Given the description of an element on the screen output the (x, y) to click on. 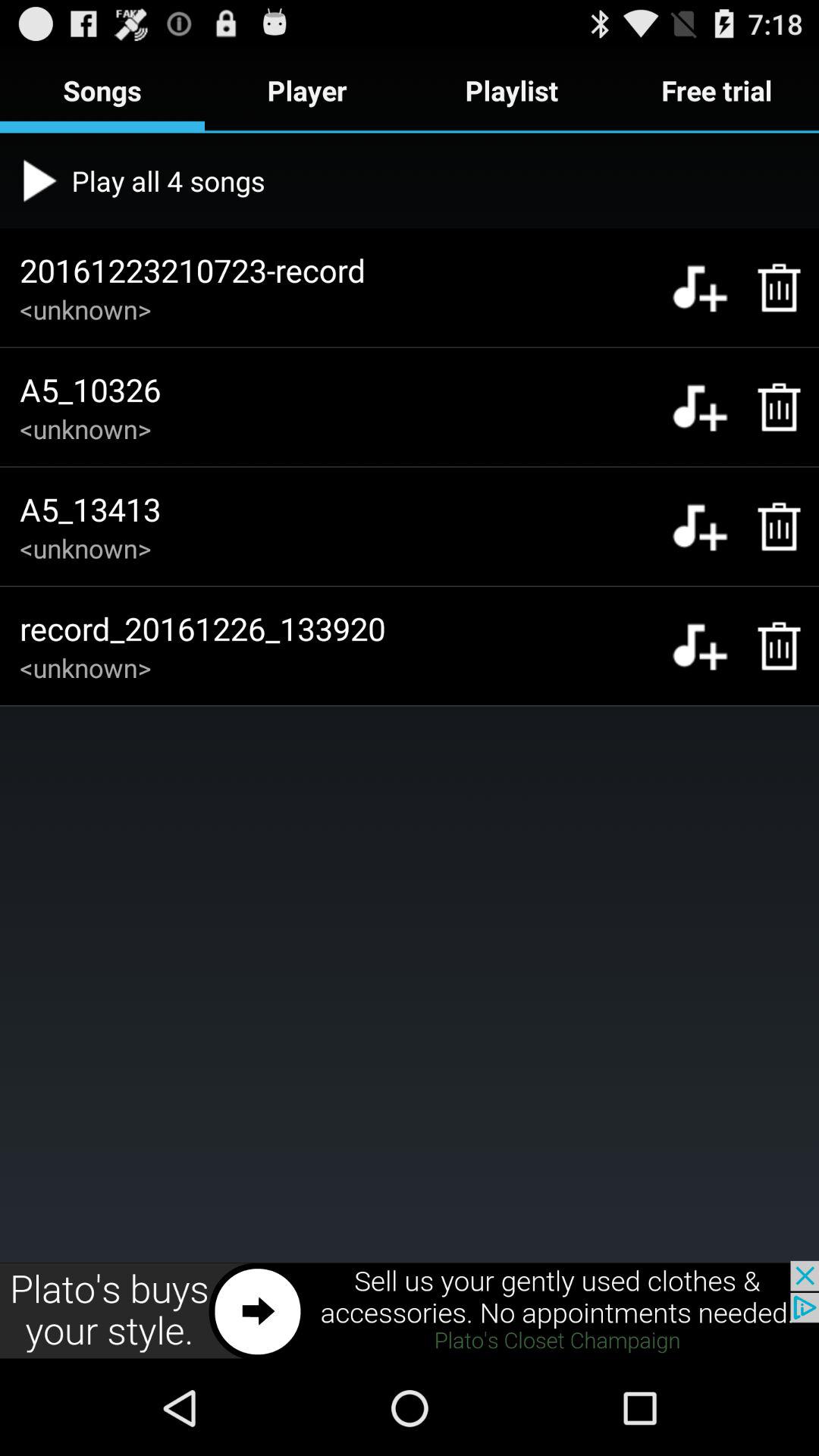
delete a5_13413 (771, 526)
